Given the description of an element on the screen output the (x, y) to click on. 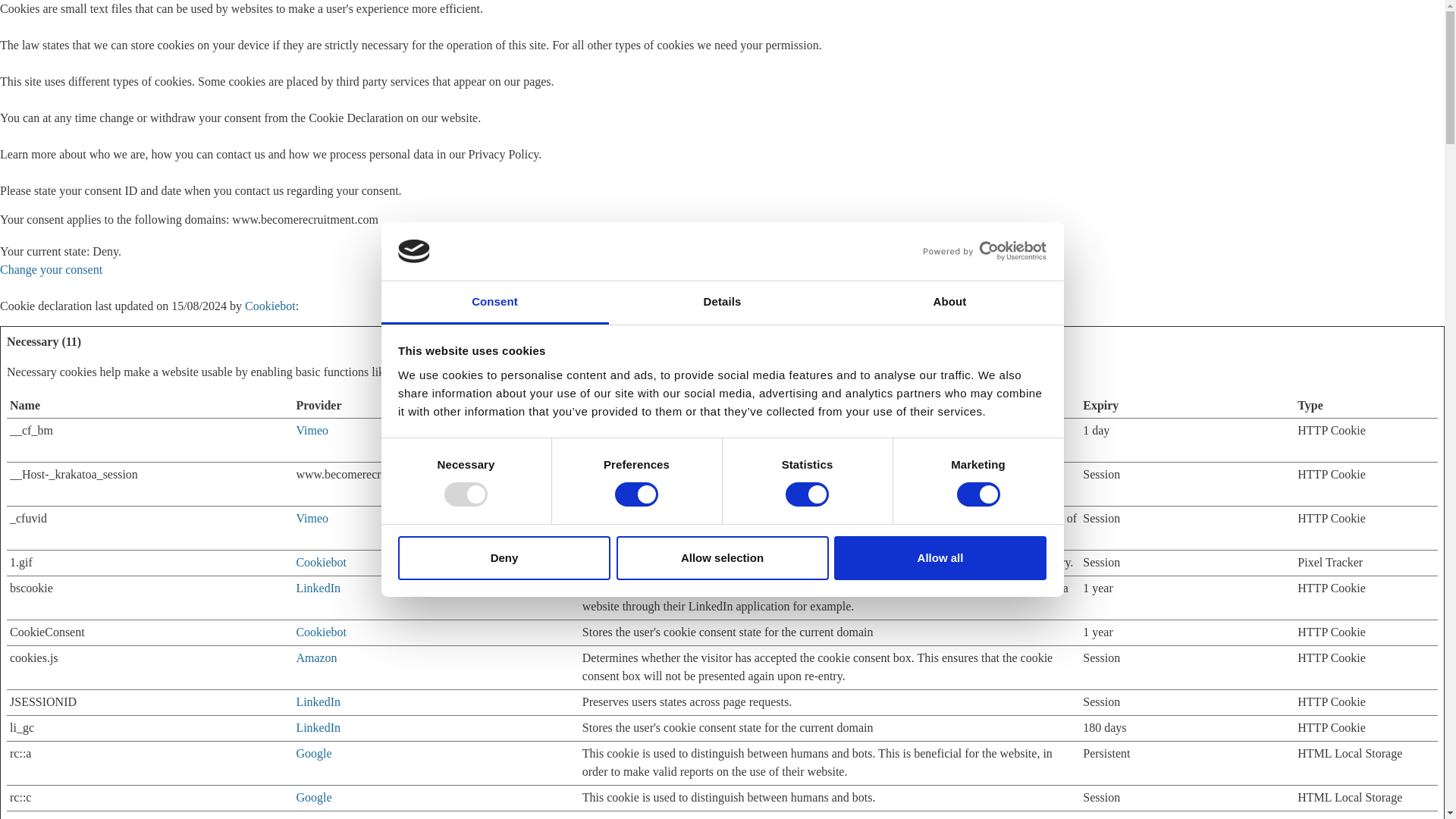
Vimeo's privacy policy (312, 430)
Amazon's privacy policy (315, 657)
Vimeo's privacy policy (312, 517)
LinkedIn (317, 727)
LinkedIn's privacy policy (317, 701)
Vimeo (312, 517)
Google (313, 753)
Amazon (315, 657)
Cookiebot (320, 562)
LinkedIn (317, 701)
